Given the description of an element on the screen output the (x, y) to click on. 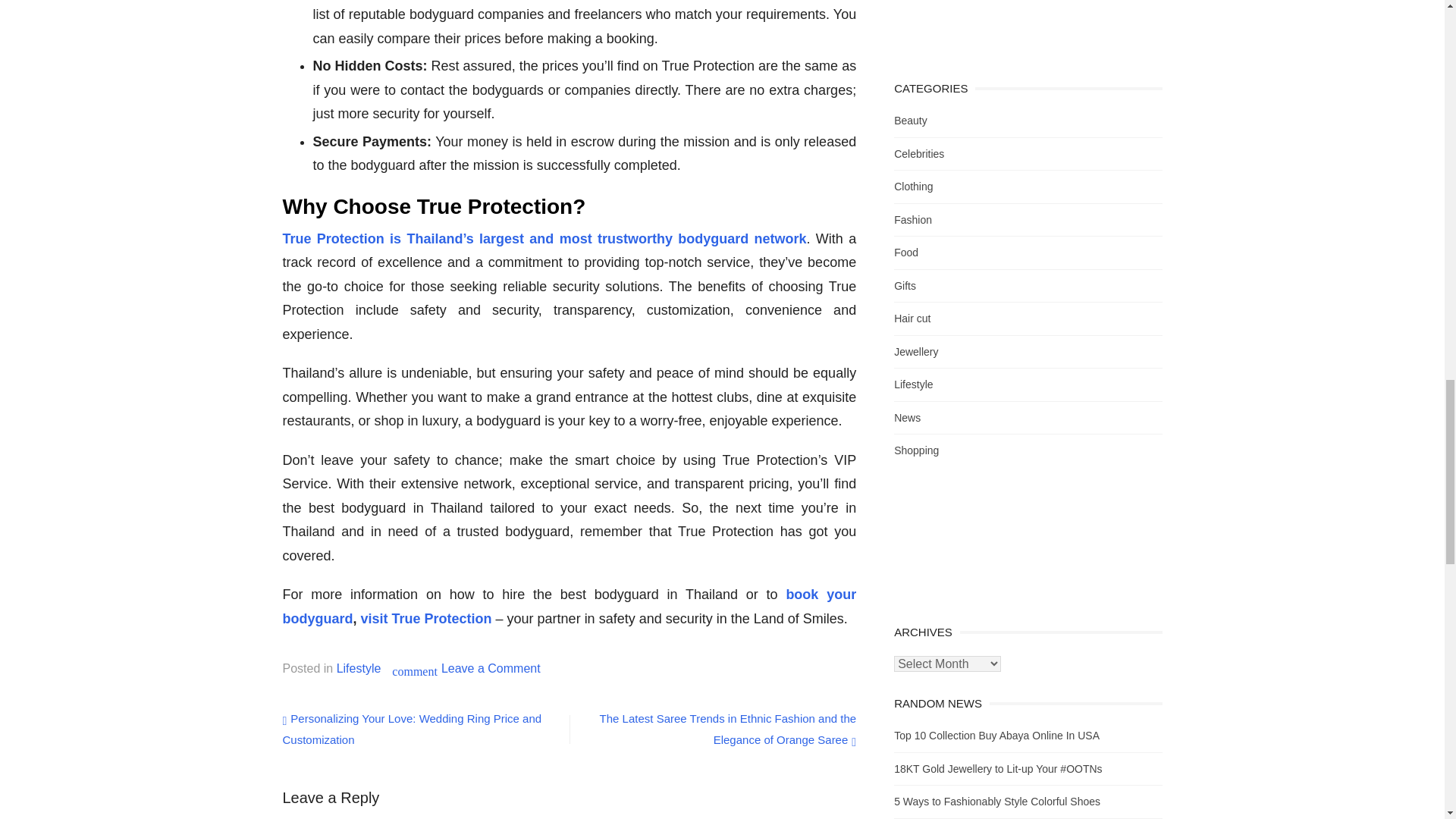
book your bodyguard (490, 667)
Advertisement (569, 606)
Lifestyle (1007, 26)
visit True Protection (358, 667)
